Given the description of an element on the screen output the (x, y) to click on. 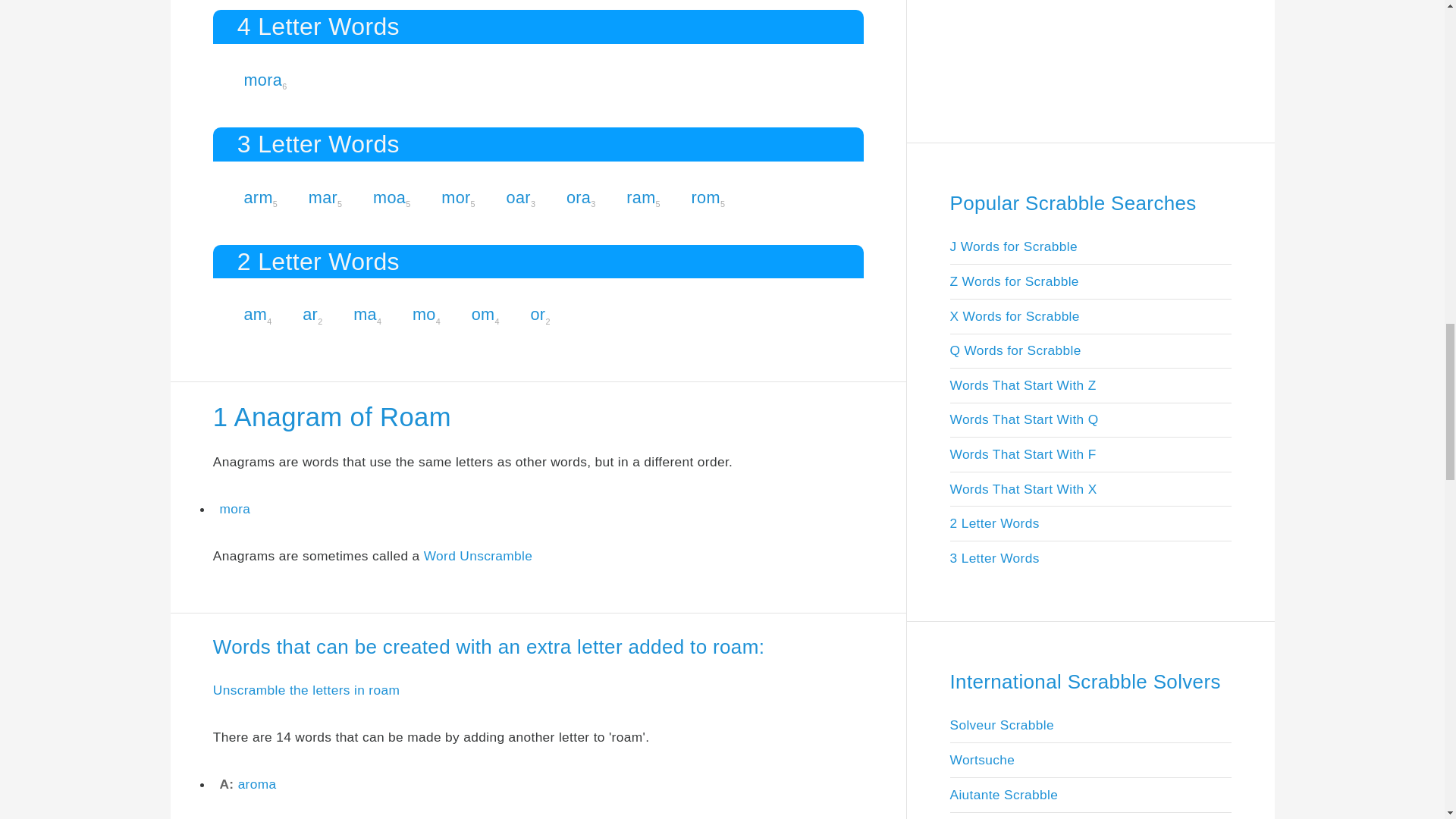
mora (262, 79)
mor (455, 197)
arm (257, 197)
mar (322, 197)
moa (389, 197)
